Given the description of an element on the screen output the (x, y) to click on. 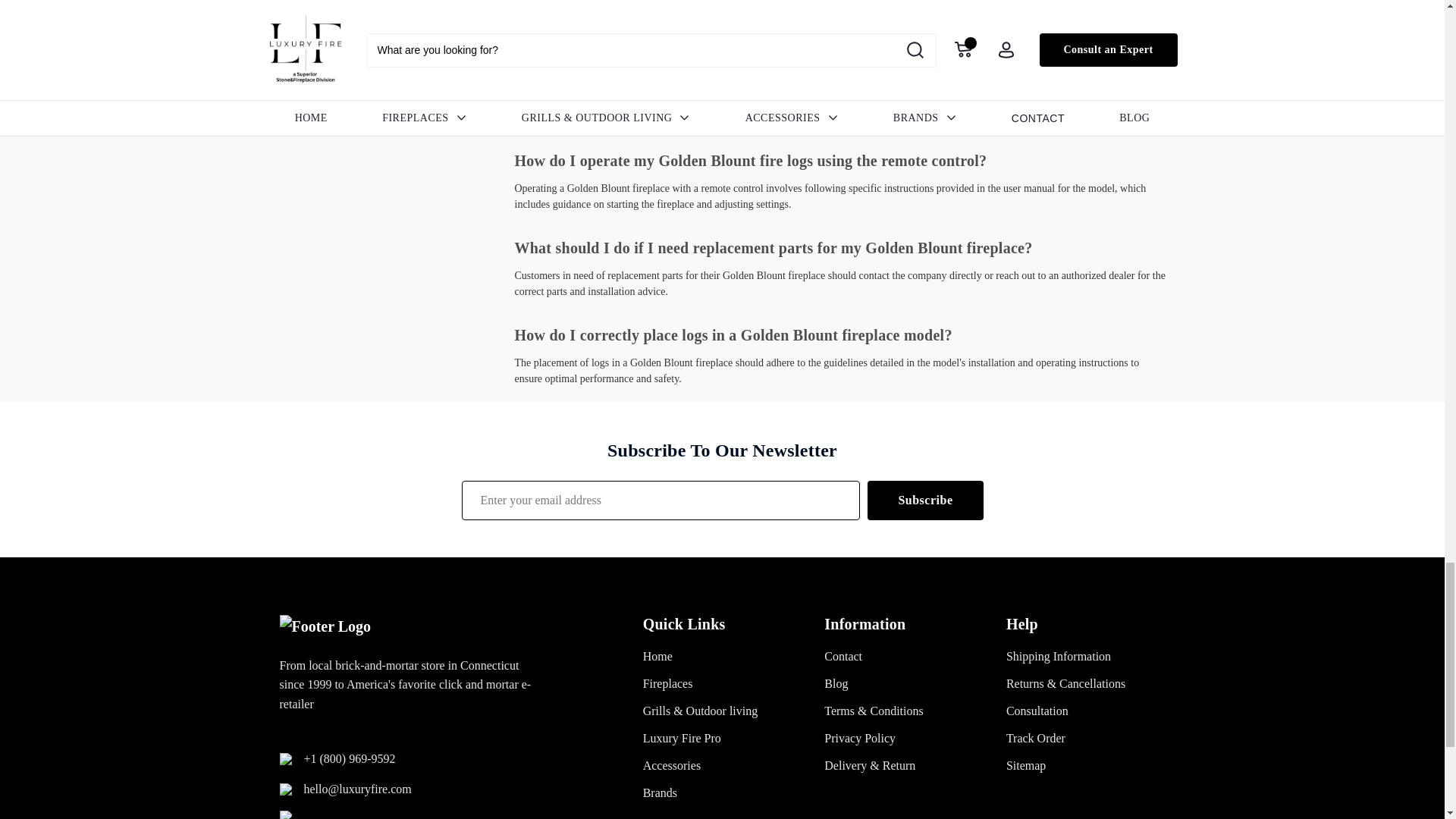
Subscribe (924, 500)
